Given the description of an element on the screen output the (x, y) to click on. 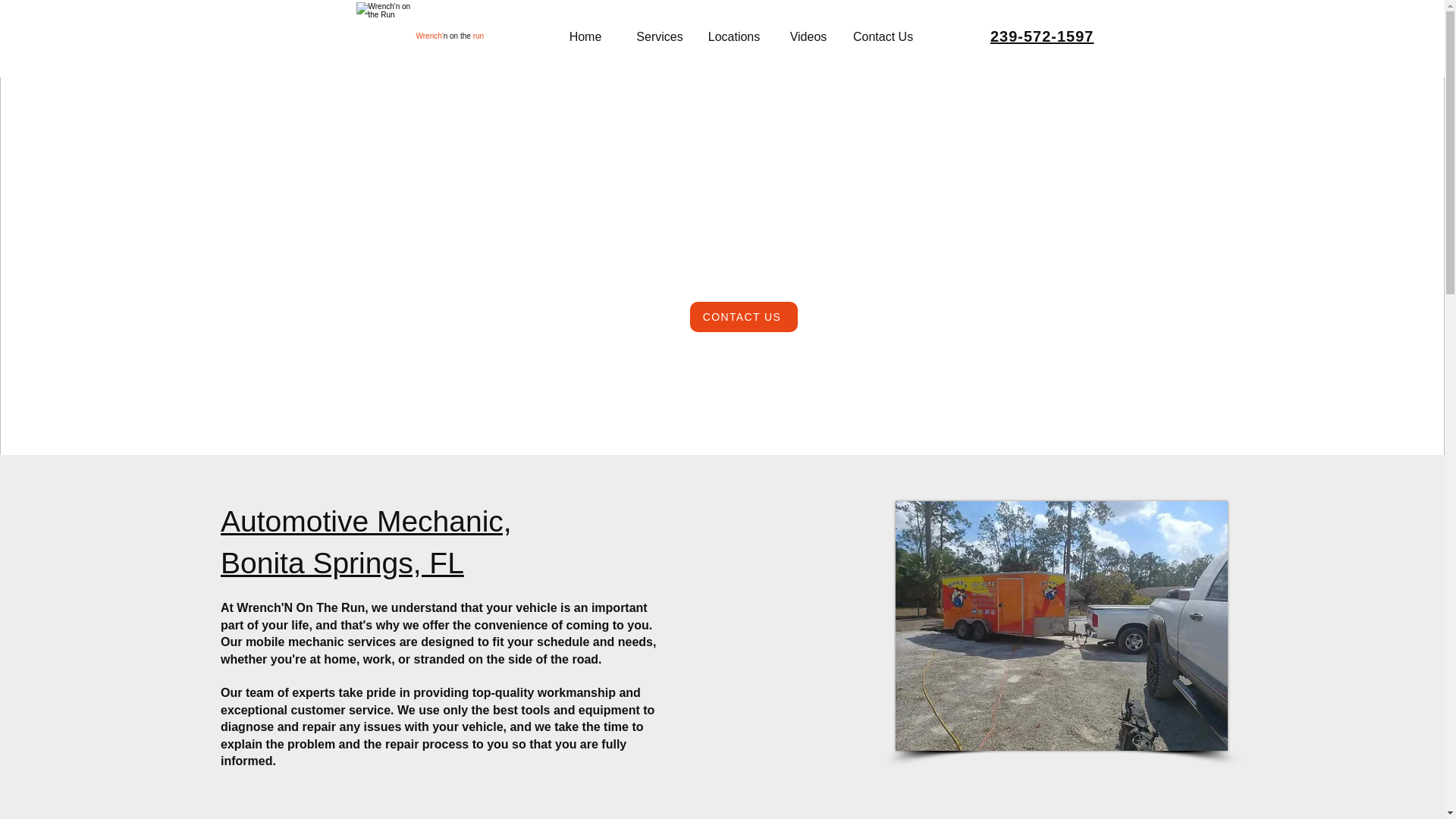
Home (585, 36)
239-572-1597 (1042, 36)
Videos (808, 36)
CONTACT US (743, 317)
Wrench'n on the (442, 35)
Contact Us (882, 36)
Services (660, 36)
